Given the description of an element on the screen output the (x, y) to click on. 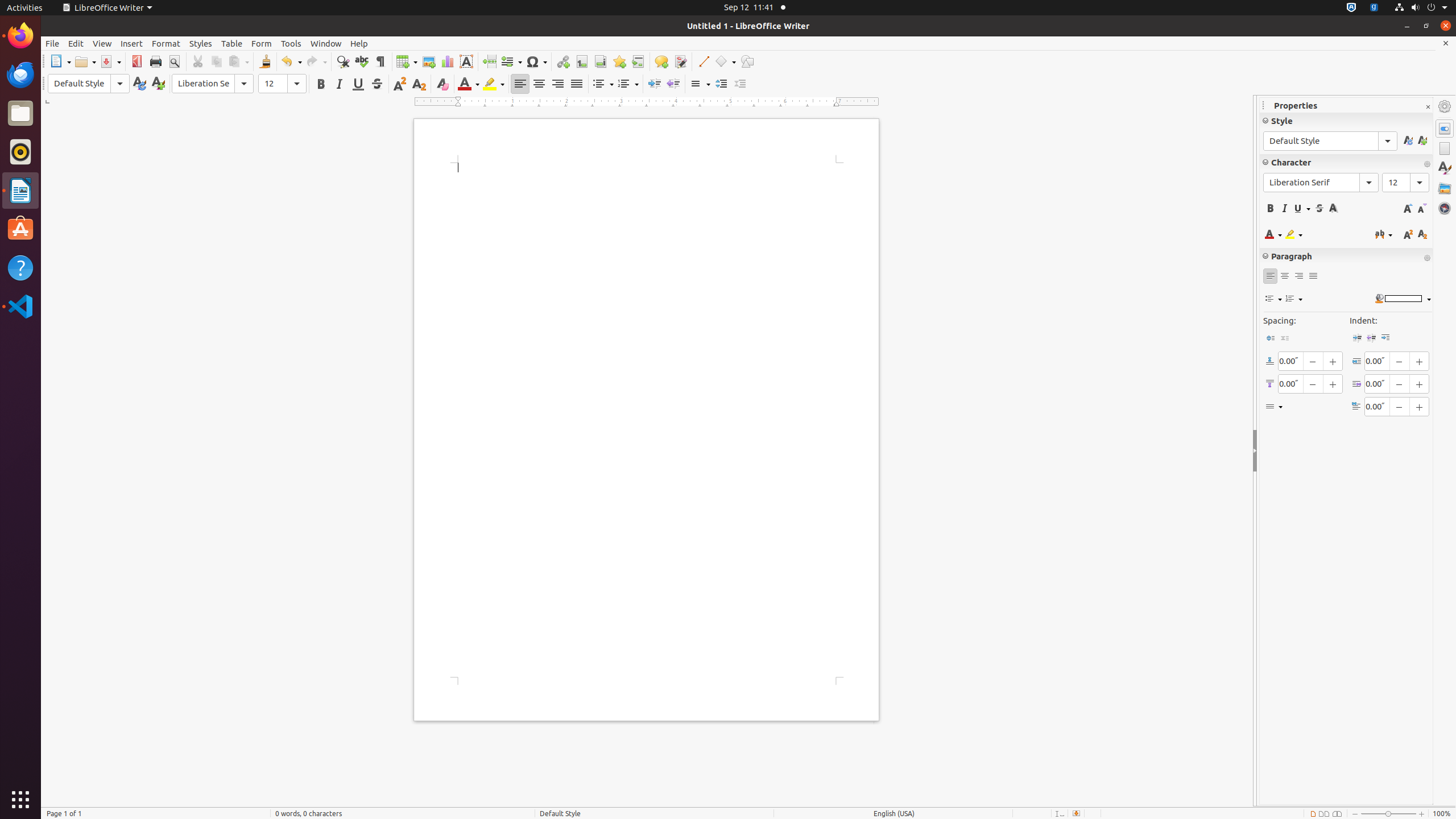
Endnote Element type: push-button (599, 61)
Files Element type: push-button (20, 113)
Hanging Indent Element type: push-button (1385, 337)
Background Color Element type: push-button (1402, 298)
Styles Element type: radio-button (1444, 168)
